Given the description of an element on the screen output the (x, y) to click on. 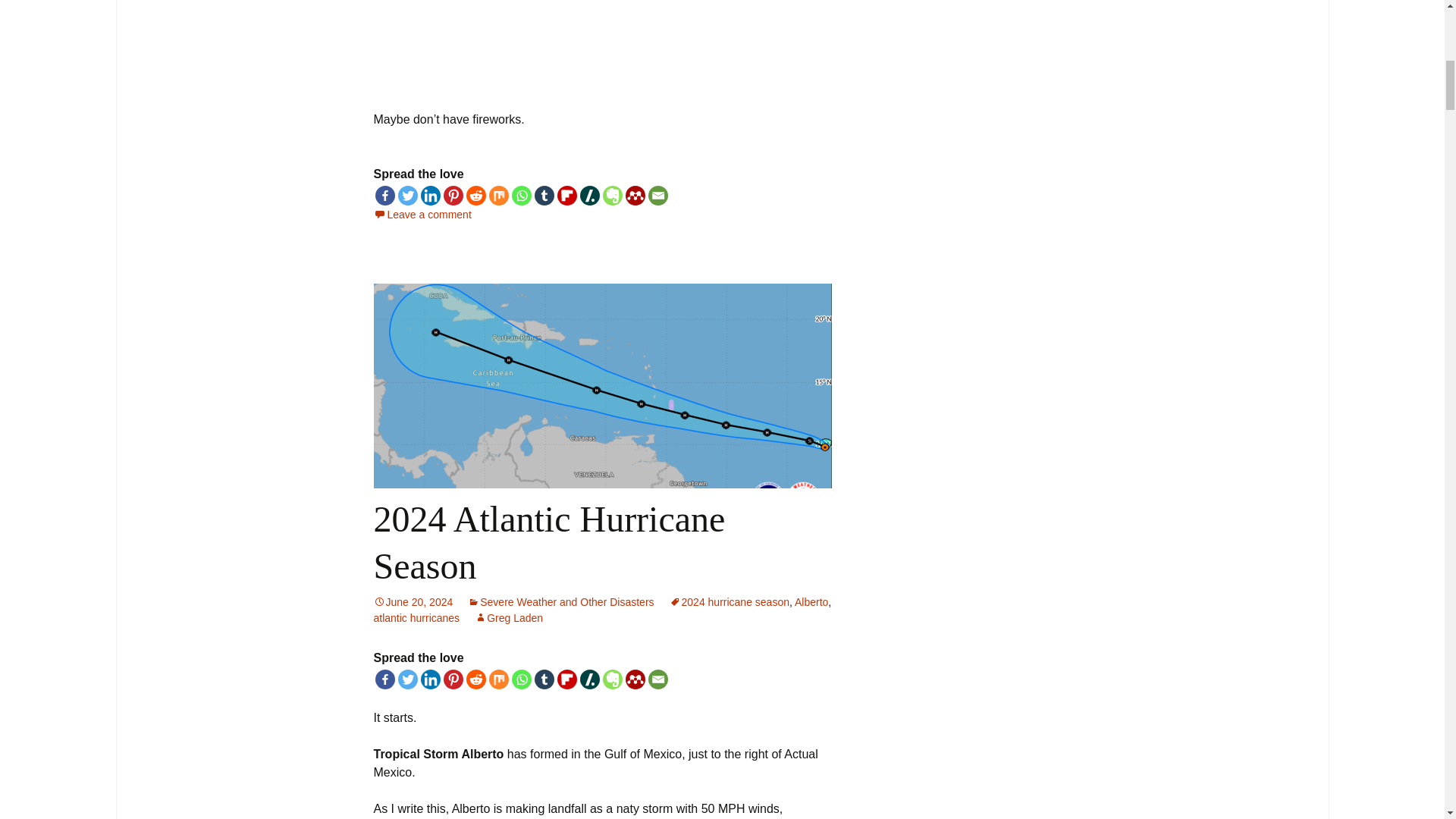
Facebook (384, 195)
Doorbell camera captures driveway fireworks accident (601, 43)
June 20, 2024 (412, 602)
Leave a comment (421, 214)
2024 Atlantic Hurricane Season (548, 542)
